Given the description of an element on the screen output the (x, y) to click on. 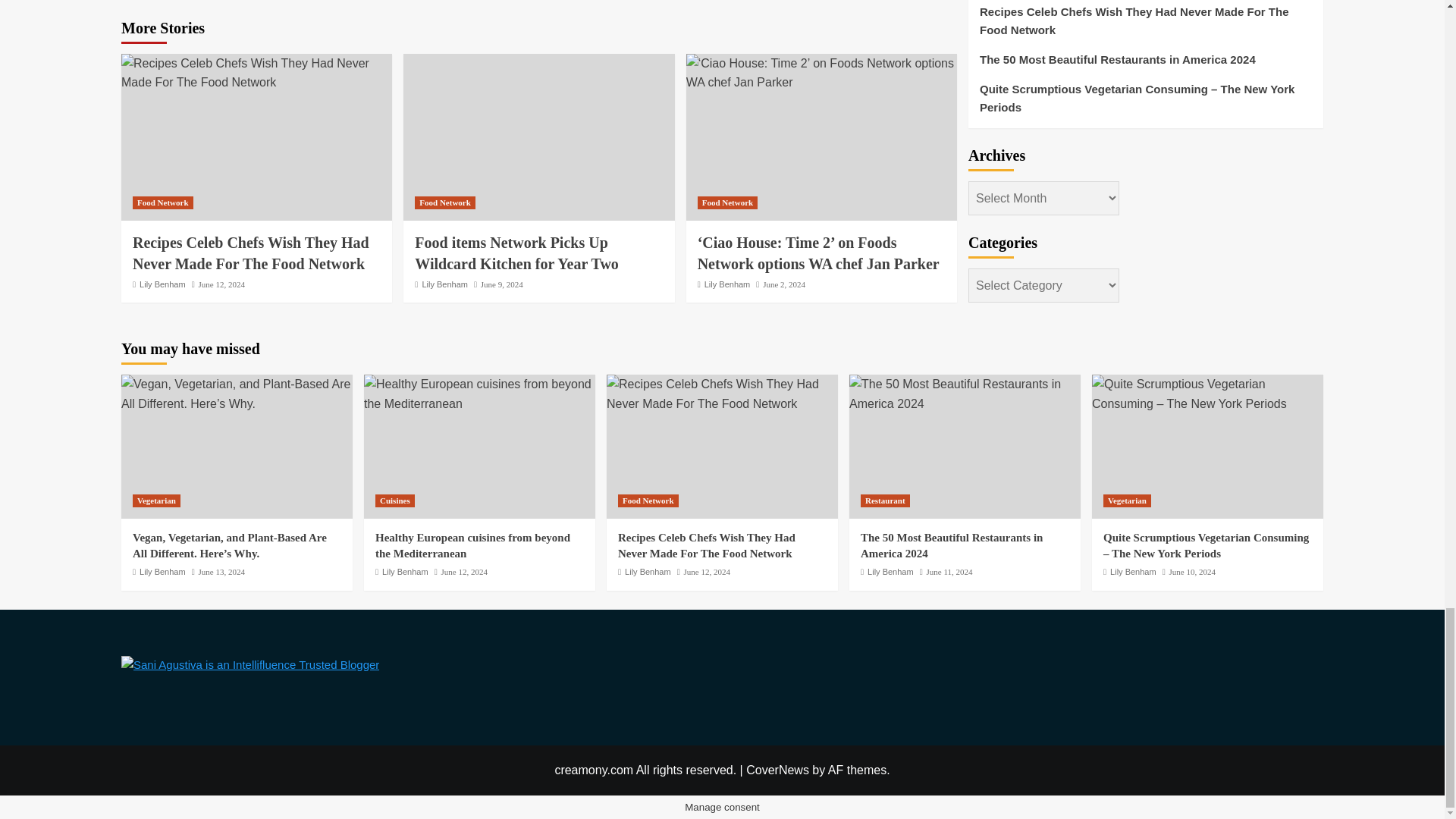
Lily Benham (162, 284)
Food items Network Picks Up Wildcard Kitchen for Year Two (538, 137)
Healthy European cuisines from beyond the Mediterranean (479, 393)
June 12, 2024 (221, 284)
Food Network (162, 202)
The 50 Most Beautiful Restaurants in America 2024 (964, 393)
